Given the description of an element on the screen output the (x, y) to click on. 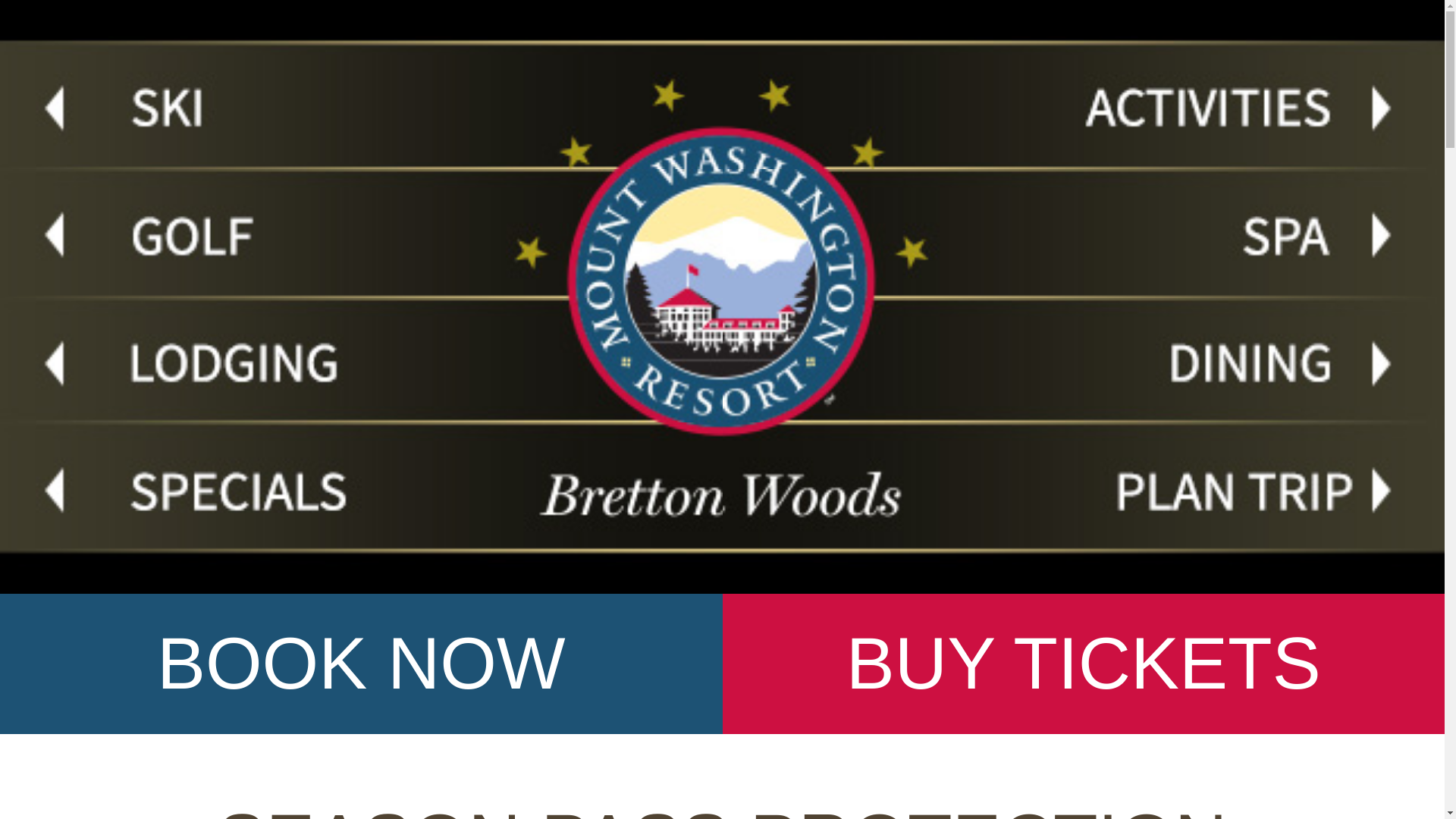
BUY TICKETS (1082, 662)
BOOK NOW (361, 662)
